Given the description of an element on the screen output the (x, y) to click on. 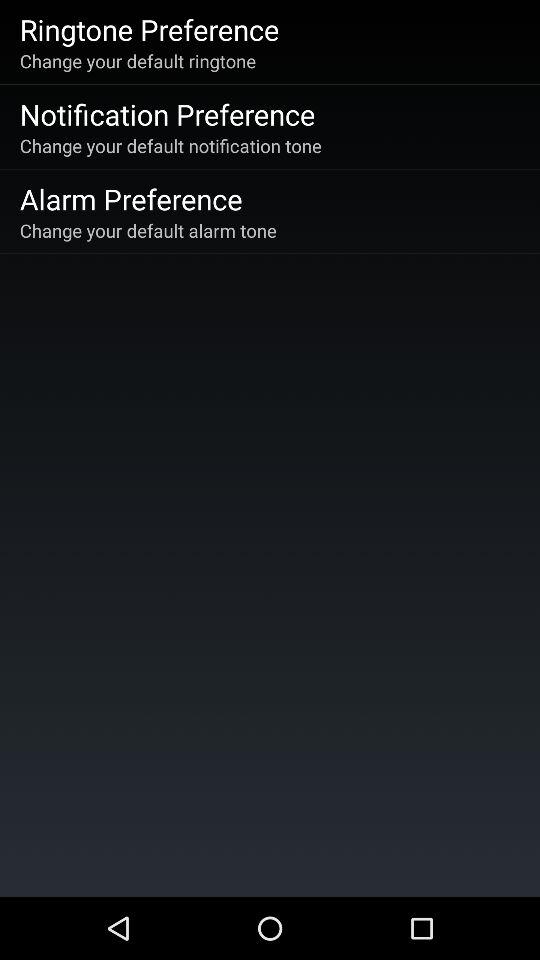
open the icon above change your default icon (167, 113)
